Given the description of an element on the screen output the (x, y) to click on. 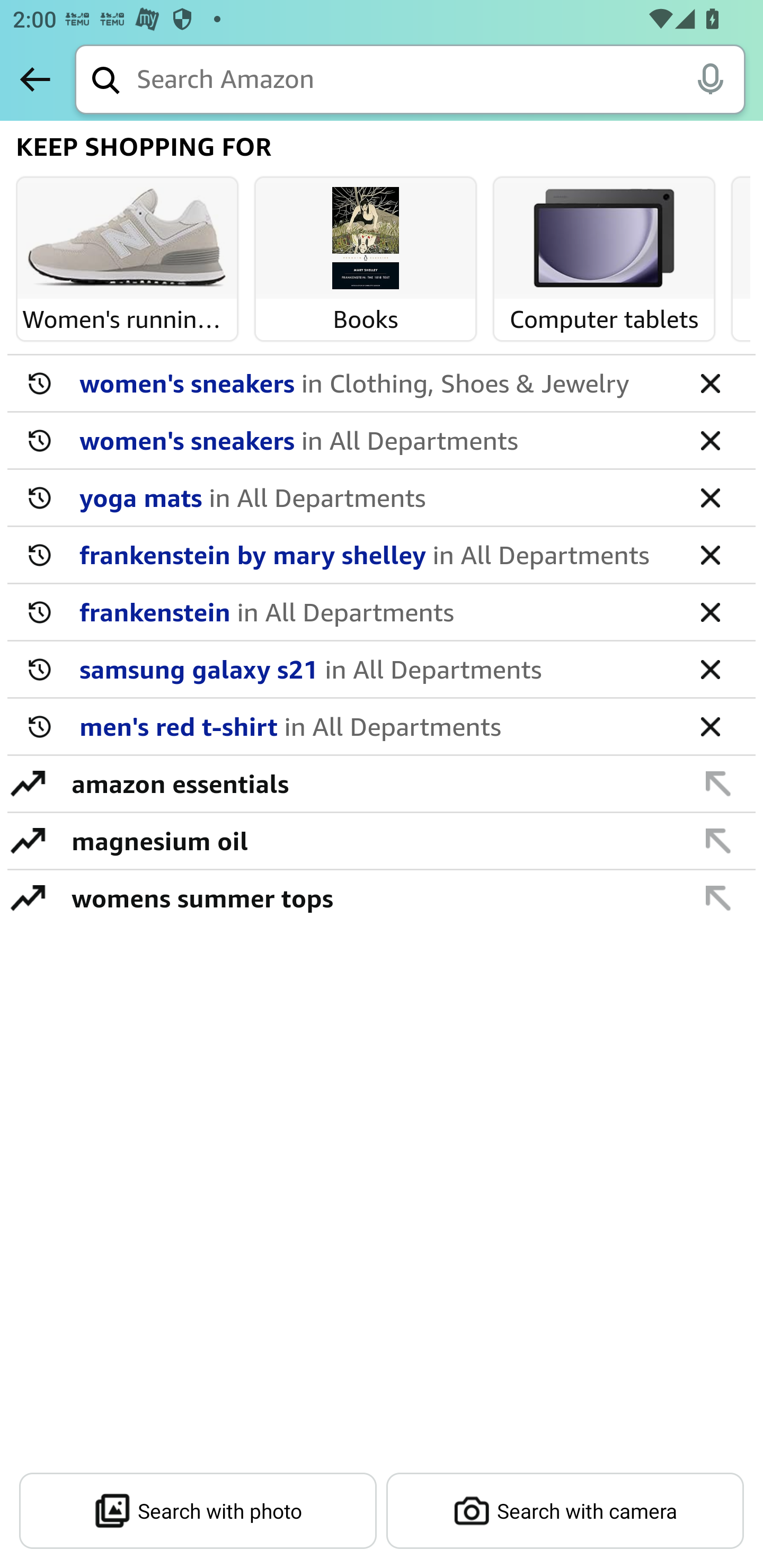
Search Amazon (440, 80)
Back (35, 78)
Alexa (710, 78)
Women's running shoes (126, 238)
Books (365, 238)
Computer tablets (603, 238)
women's sneakers delete (381, 383)
women's sneakers (374, 382)
delete (710, 382)
women's sneakers delete (381, 440)
women's sneakers (374, 439)
delete (710, 439)
yoga mats delete (381, 497)
yoga mats (374, 496)
delete (710, 496)
frankenstein by mary shelley delete (381, 554)
frankenstein by mary shelley (374, 554)
delete (710, 554)
frankenstein delete (381, 612)
frankenstein (374, 611)
delete (710, 611)
samsung galaxy s21 delete (381, 669)
samsung galaxy s21 (374, 668)
delete (710, 668)
men's red t-shirt delete (381, 726)
men's red t-shirt (374, 725)
delete (710, 725)
amazon essentials append suggestion (381, 783)
amazon essentials (370, 783)
append suggestion (718, 783)
magnesium oil append suggestion (381, 841)
magnesium oil (370, 840)
append suggestion (718, 840)
womens summer tops append suggestion (381, 897)
womens summer tops (370, 897)
append suggestion (718, 897)
Search with photo (197, 1510)
Search with camera (564, 1510)
